Given the description of an element on the screen output the (x, y) to click on. 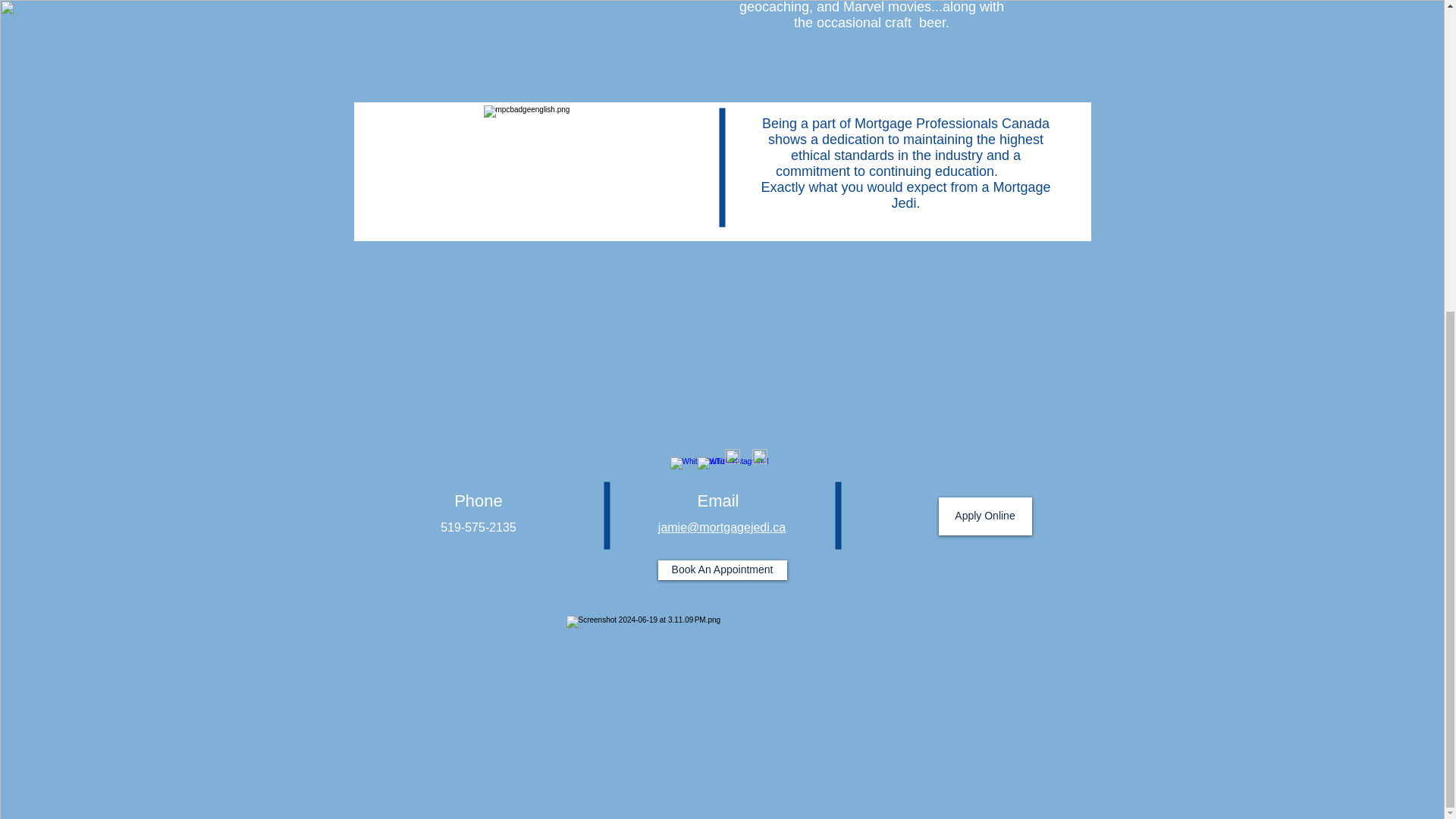
Book An Appointment (722, 569)
519-575-2135 (478, 526)
Apply Online (985, 516)
